Given the description of an element on the screen output the (x, y) to click on. 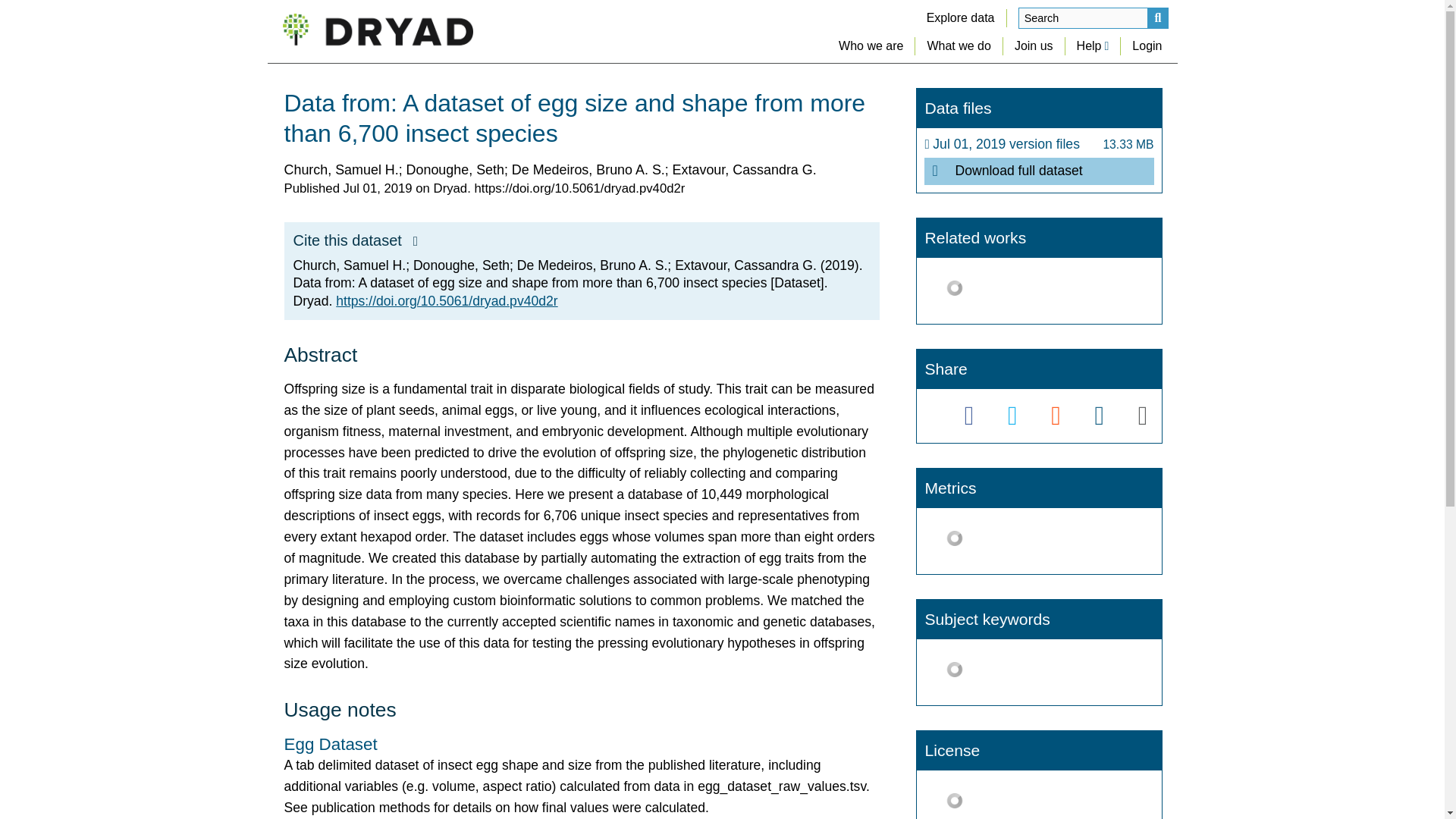
Who we are (870, 45)
